Given the description of an element on the screen output the (x, y) to click on. 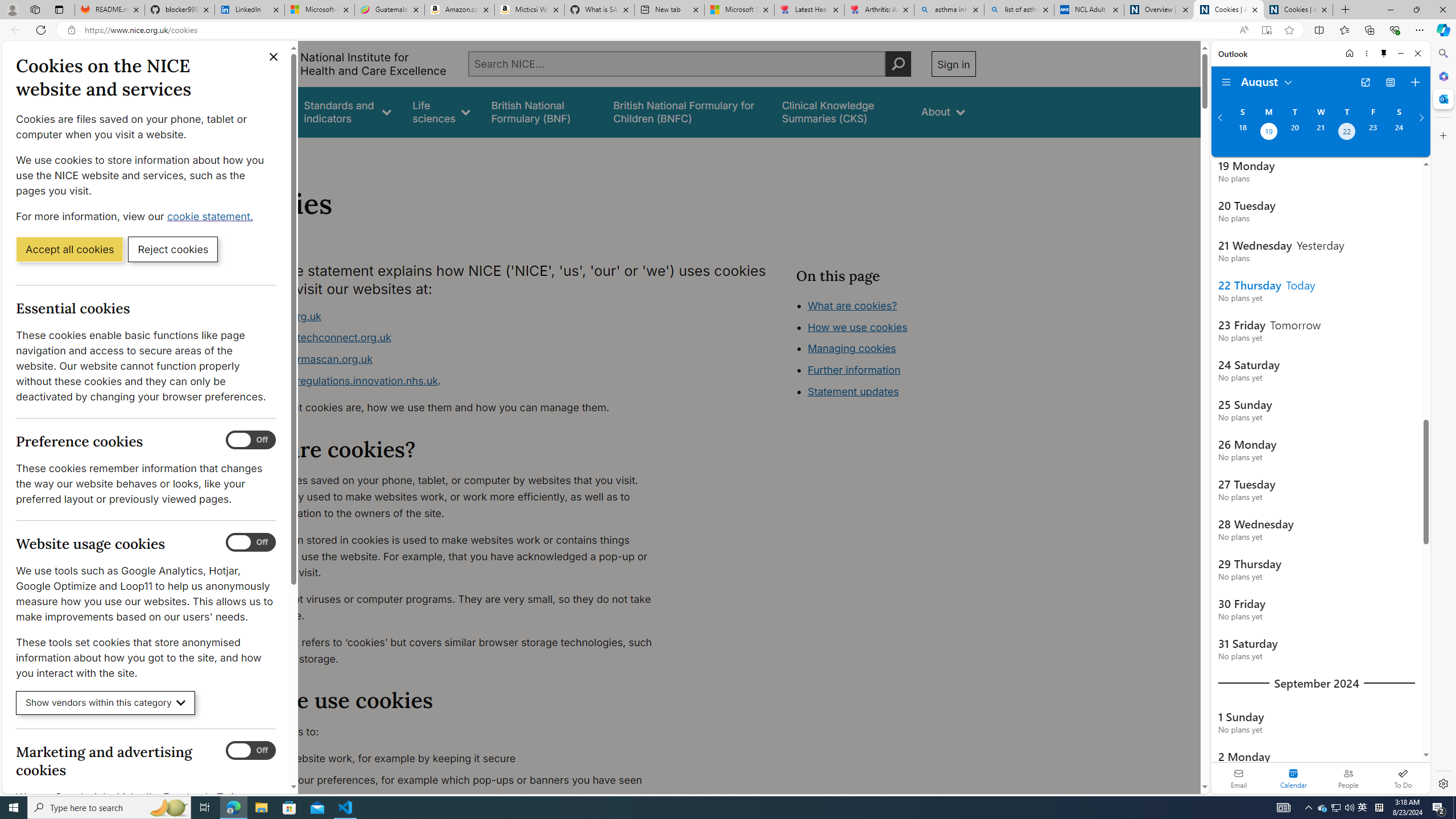
list of asthma inhalers uk - Search (1018, 9)
August (1267, 80)
Selected calendar module. Date today is 22 (1293, 777)
Create event (1414, 82)
Sunday, August 18, 2024.  (1242, 132)
Class: in-page-nav__list (884, 349)
How we use cookies (857, 327)
LinkedIn (249, 9)
